Given the description of an element on the screen output the (x, y) to click on. 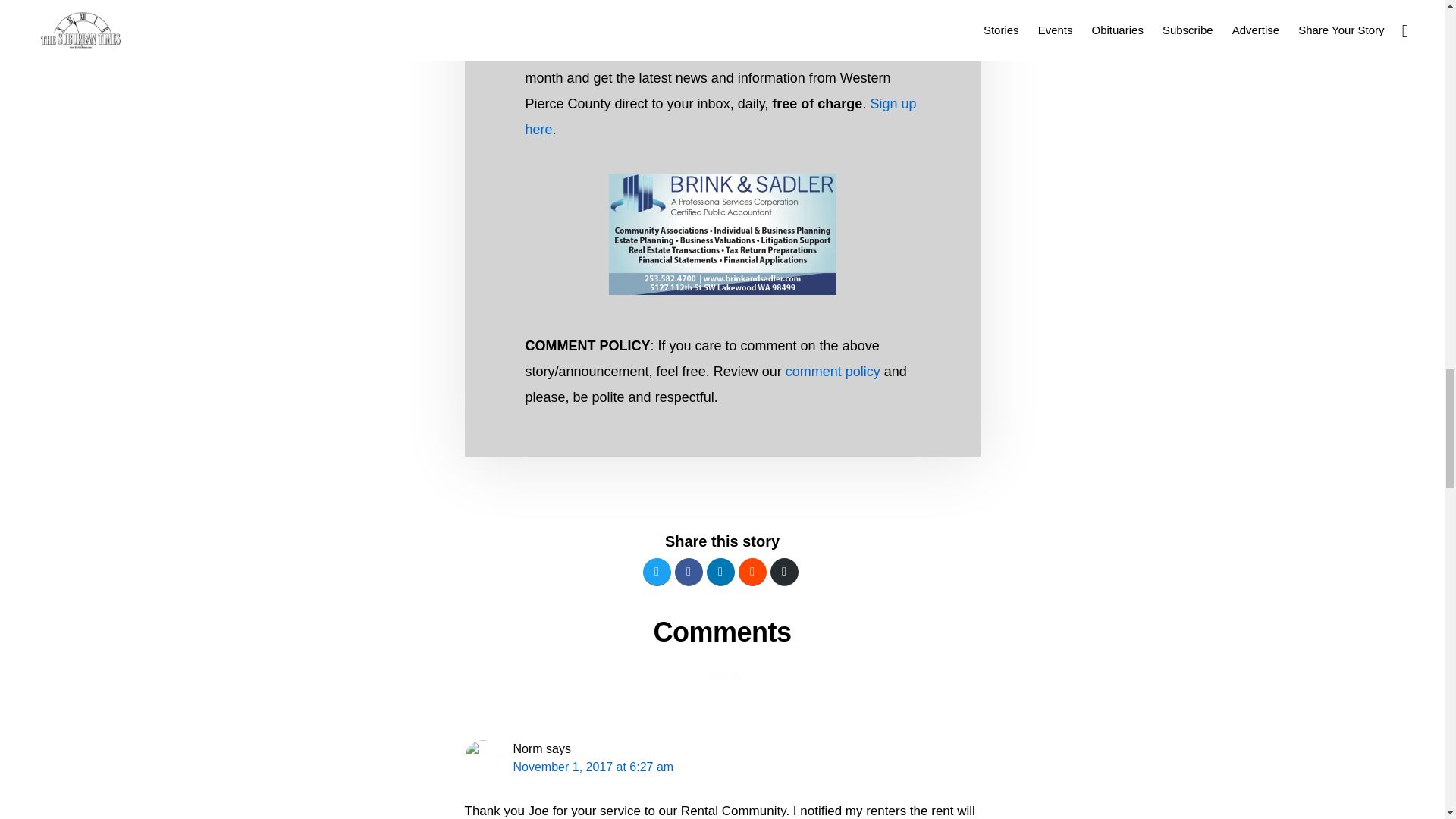
Share on LinkedIn (720, 571)
November 1, 2017 at 6:27 am (592, 766)
Share on Twitter (657, 571)
Share on Facebook (689, 571)
Share on LinkedIn (720, 571)
Share on Facebook (689, 571)
Share on Reddit (752, 571)
Share on Reddit (752, 571)
Share via Email (783, 571)
Share via Email (783, 571)
